Given the description of an element on the screen output the (x, y) to click on. 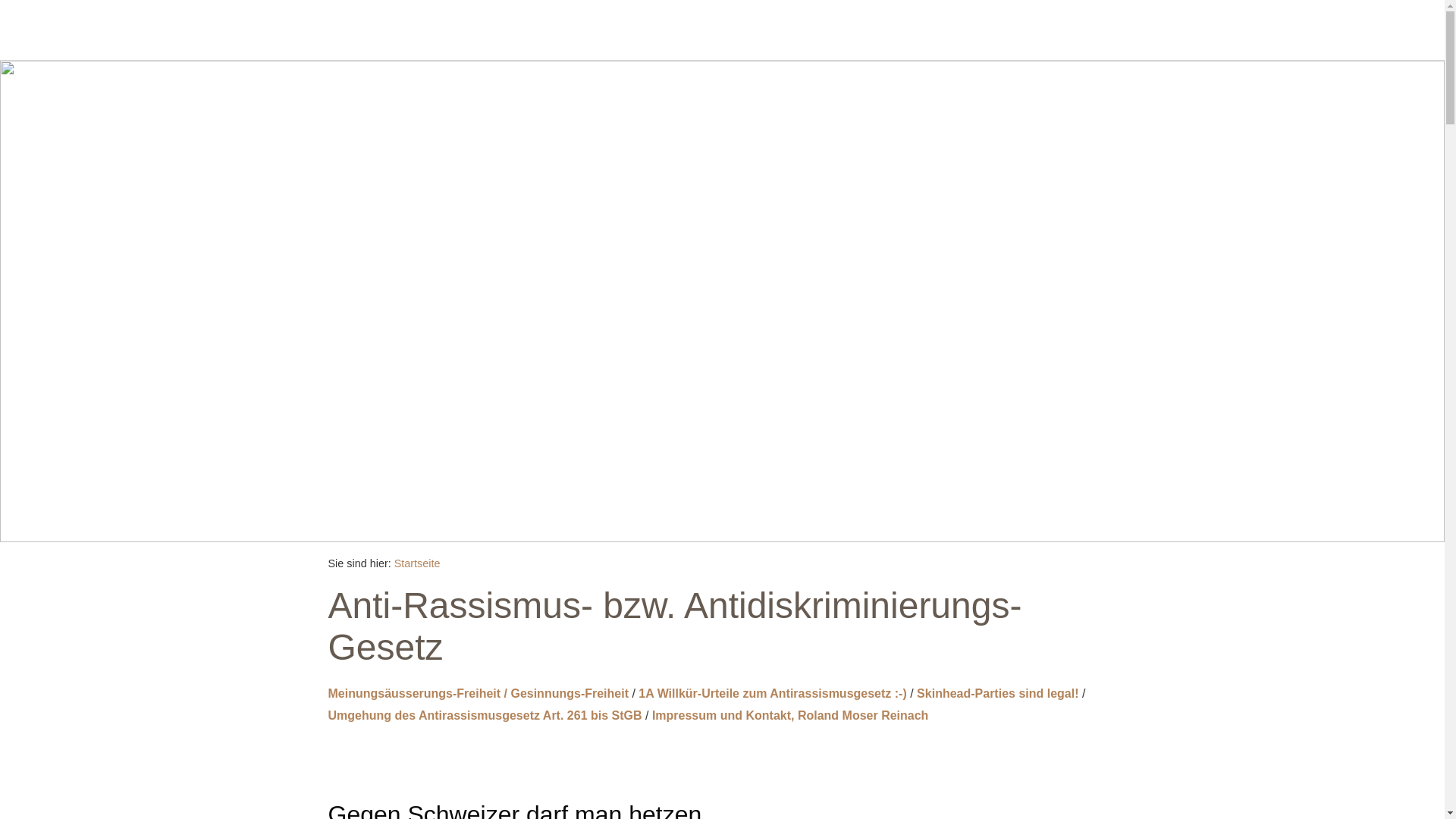
Startseite Element type: text (417, 563)
Umgehung des Antirassismusgesetz Art. 261 bis StGB Element type: text (484, 715)
Skinhead-Parties sind legal! Element type: text (997, 693)
Impressum und Kontakt, Roland Moser Reinach Element type: text (790, 715)
